Given the description of an element on the screen output the (x, y) to click on. 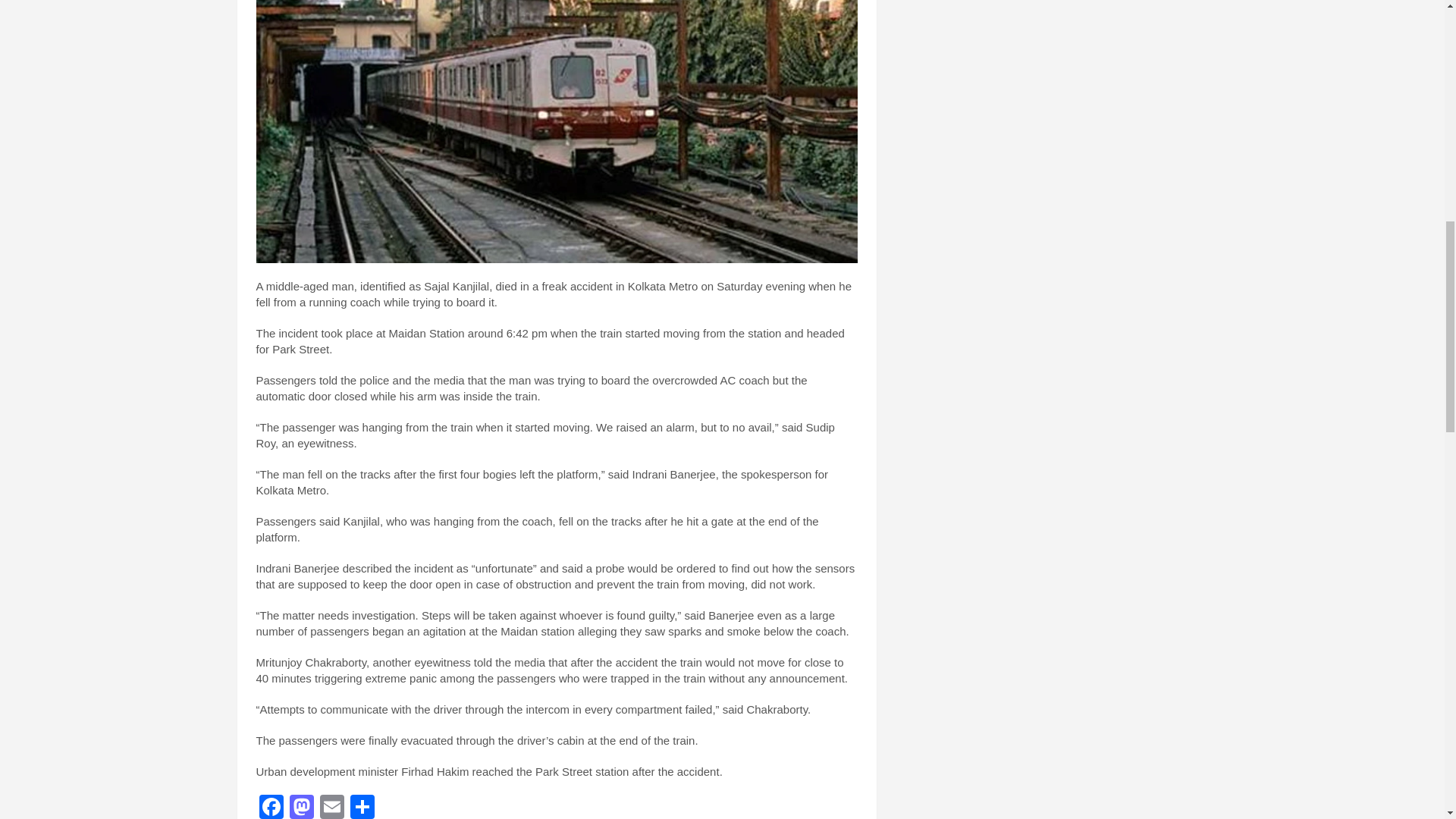
Facebook (271, 806)
Mastodon (301, 806)
Email (332, 806)
Mastodon (301, 806)
Email (332, 806)
Facebook (271, 806)
Share (362, 806)
